Given the description of an element on the screen output the (x, y) to click on. 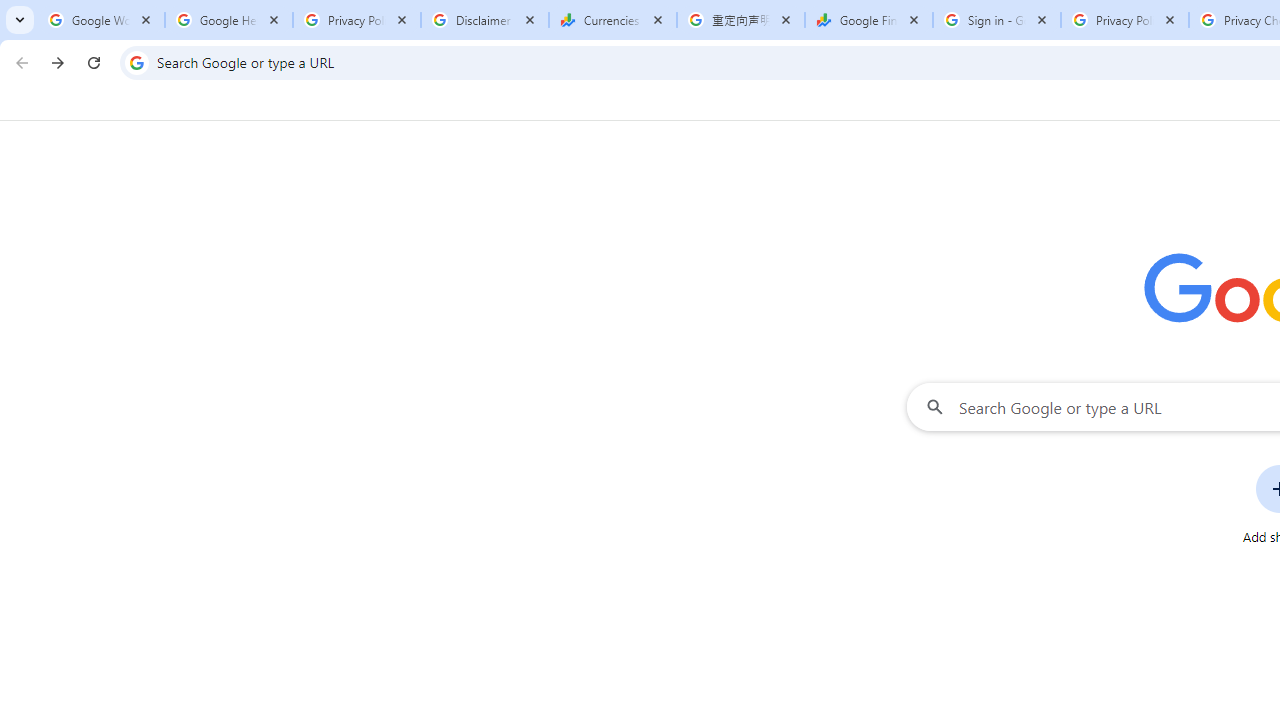
Google Workspace Admin Community (101, 20)
Back (19, 62)
